Given the description of an element on the screen output the (x, y) to click on. 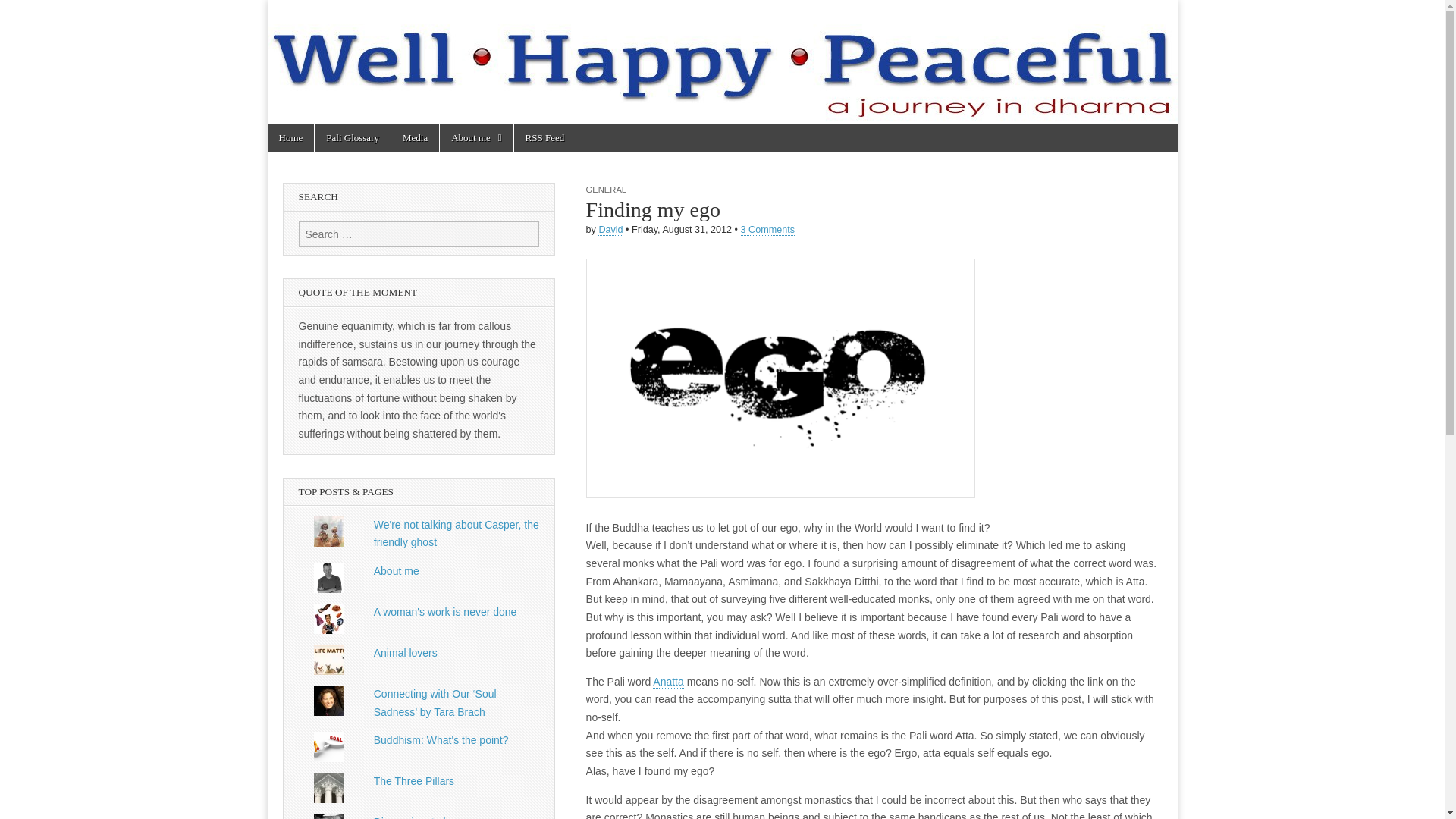
Anatta (667, 681)
Well Happy Peaceful (721, 61)
David (610, 229)
ego (780, 377)
Posts by David (610, 229)
GENERAL (606, 189)
Pali Glossary (352, 137)
Search (23, 12)
Media (415, 137)
We're not talking about Casper, the friendly ghost (456, 533)
RSS Feed (544, 137)
Anatta (667, 681)
3 Comments (767, 229)
